Given the description of an element on the screen output the (x, y) to click on. 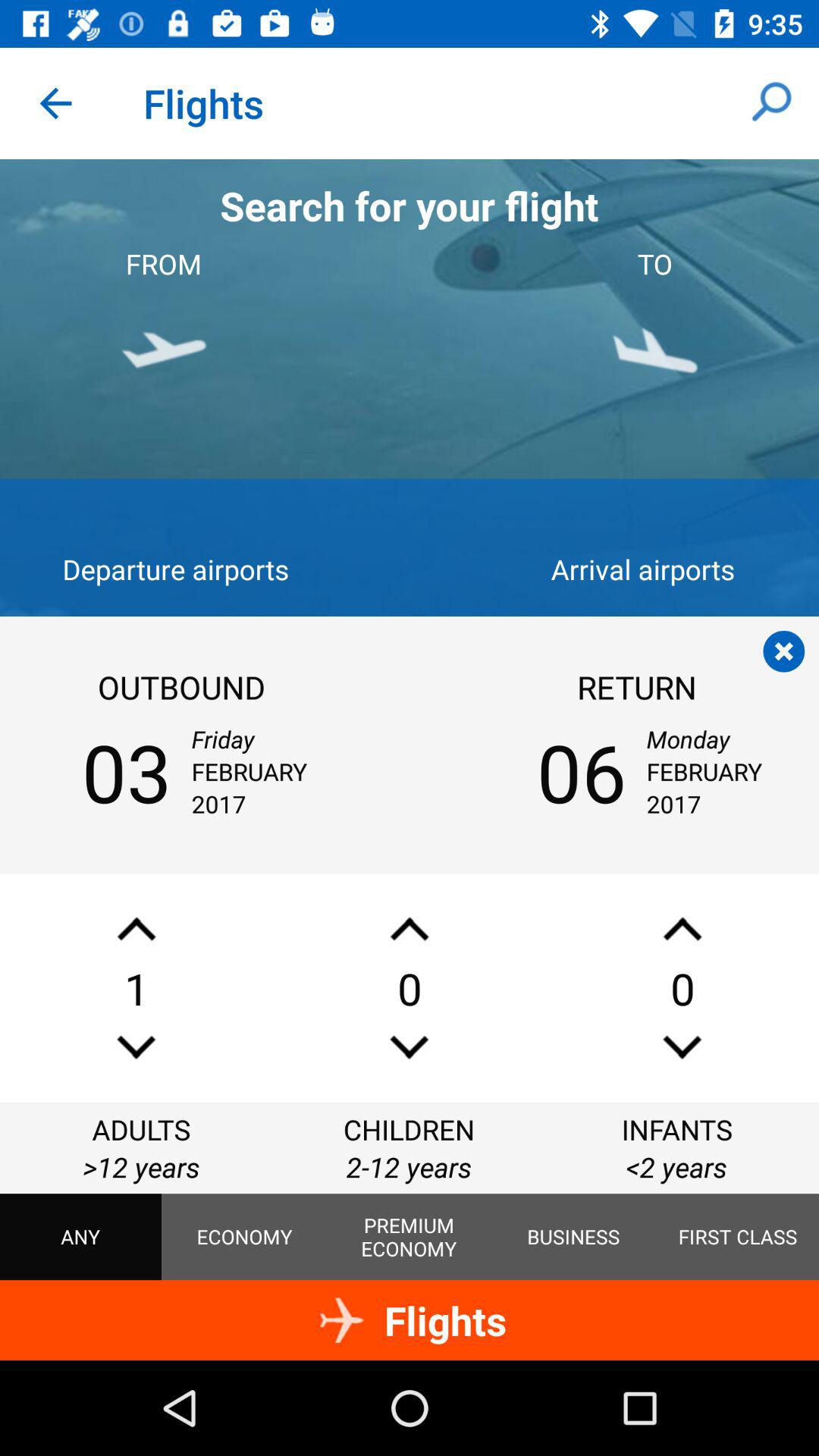
press any (80, 1236)
